Given the description of an element on the screen output the (x, y) to click on. 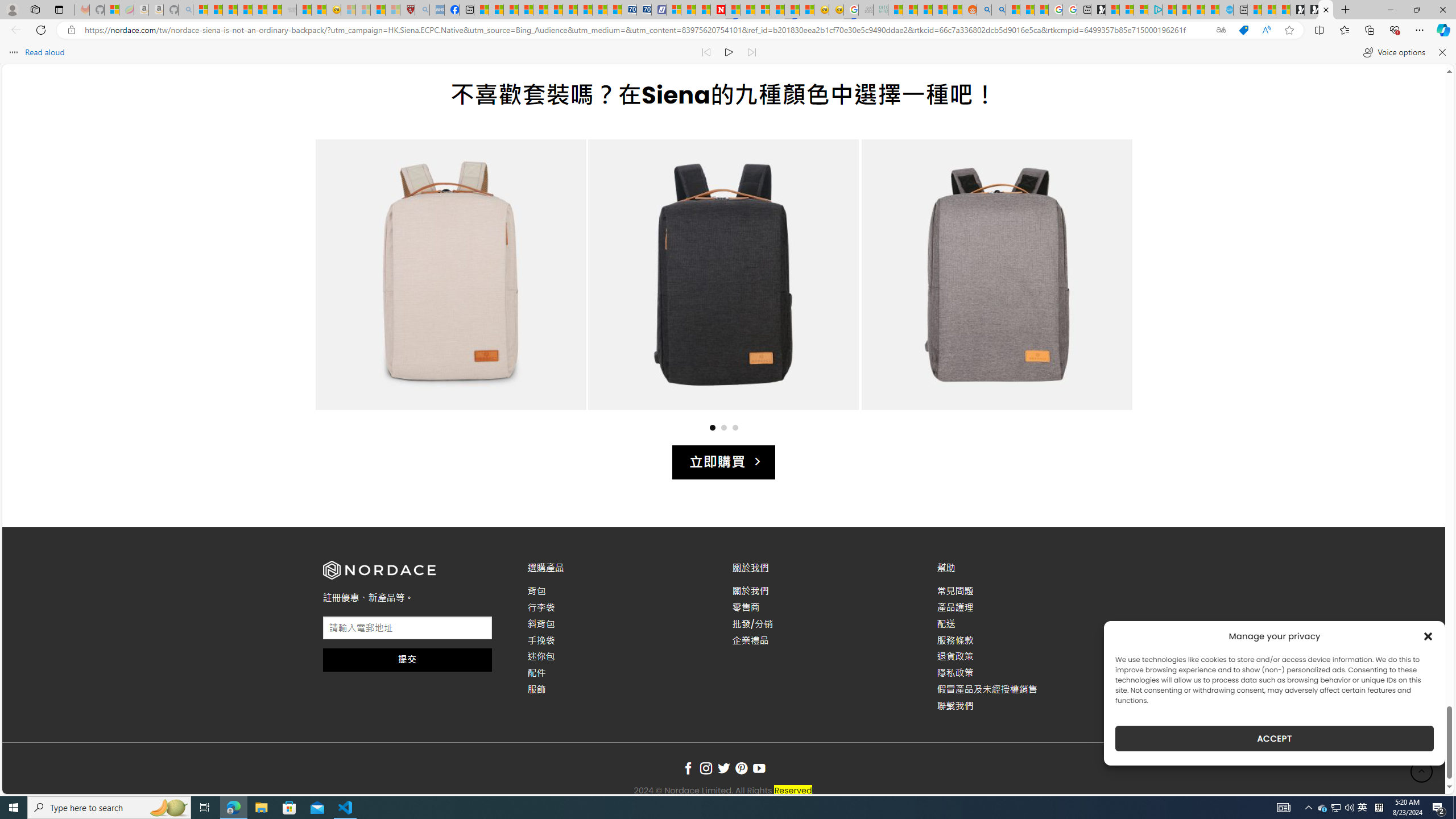
Combat Siege - Sleeping (288, 9)
Follow on Twitter (723, 768)
Follow on Facebook (687, 768)
Cheap Hotels - Save70.com (643, 9)
Follow on Pinterest (740, 768)
AutomationID: input_4_1 (406, 627)
This site has coupons! Shopping in Microsoft Edge (1243, 29)
